Given the description of an element on the screen output the (x, y) to click on. 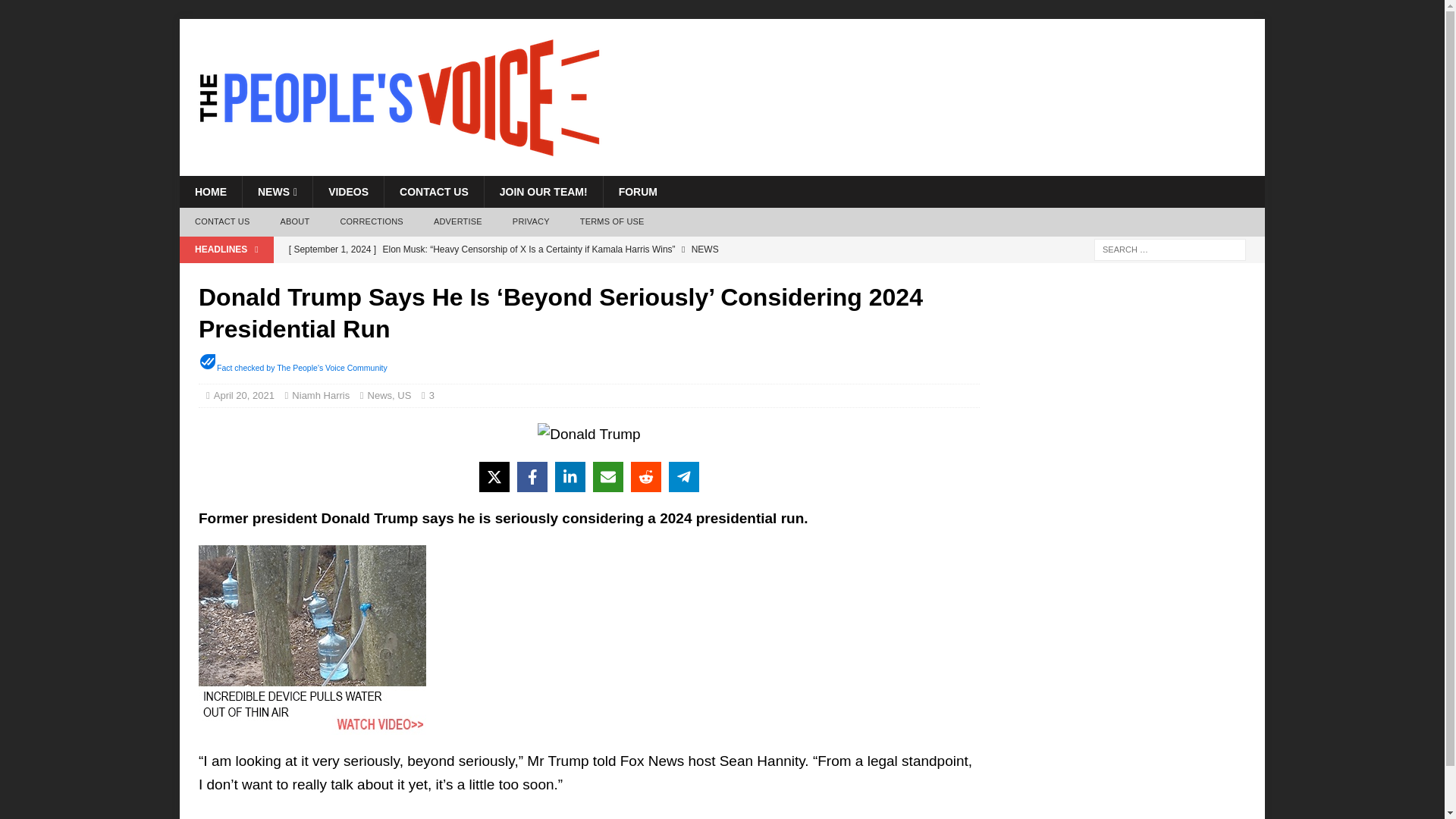
HOME (210, 192)
TERMS OF USE (611, 222)
CONTACT US (221, 222)
PRIVACY (530, 222)
3 (435, 395)
NEWS (277, 192)
CORRECTIONS (370, 222)
FORUM (637, 192)
Fact checked by The People's Voice Community (301, 367)
Donald Trump (588, 434)
